Given the description of an element on the screen output the (x, y) to click on. 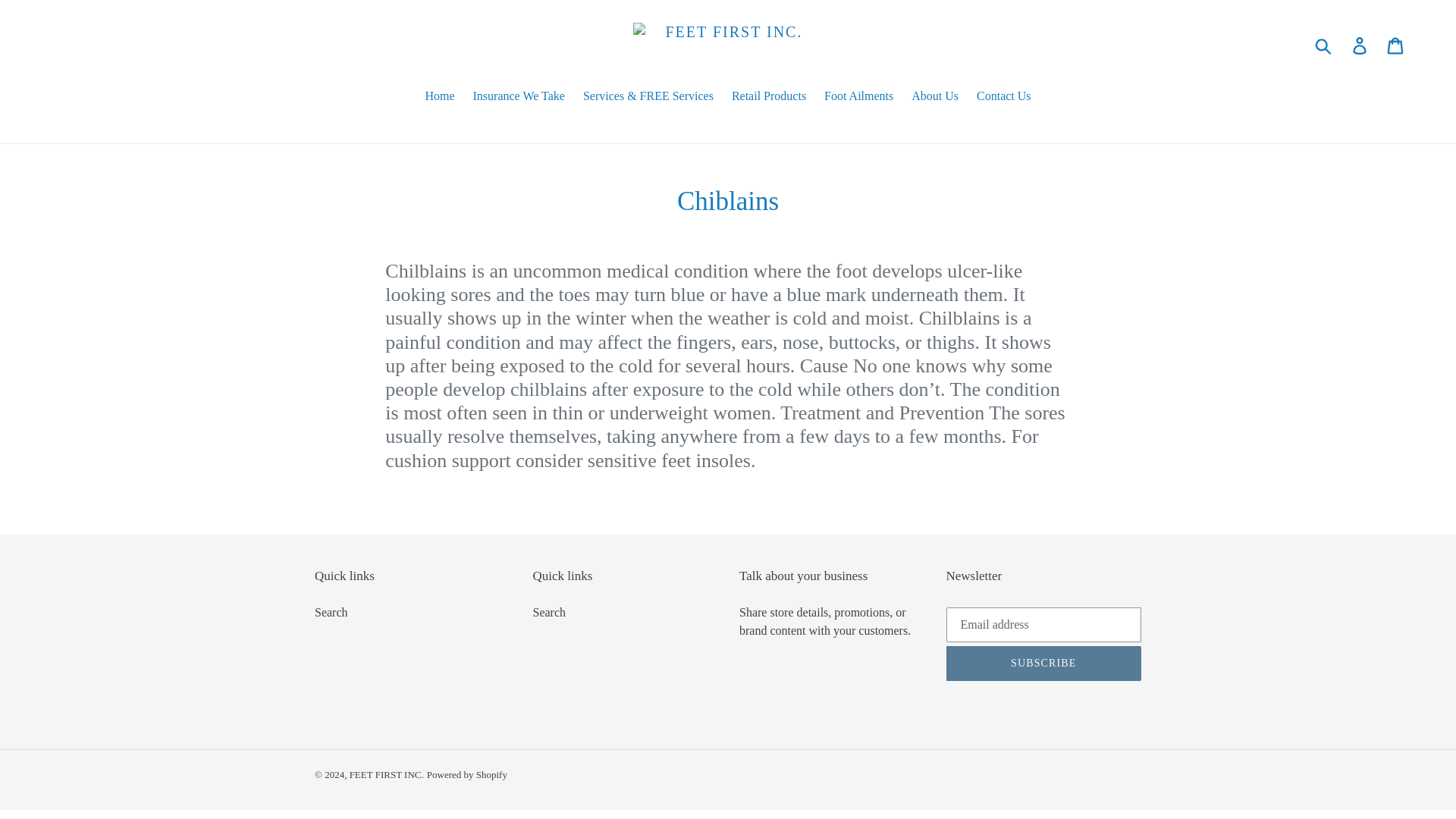
Retail Products (768, 96)
Submit (1324, 45)
Cart (1395, 45)
Foot Ailments (858, 96)
Home (438, 96)
Log in (1360, 45)
FEET FIRST INC. (386, 774)
About Us (935, 96)
Contact Us (1004, 96)
Search (330, 612)
